Given the description of an element on the screen output the (x, y) to click on. 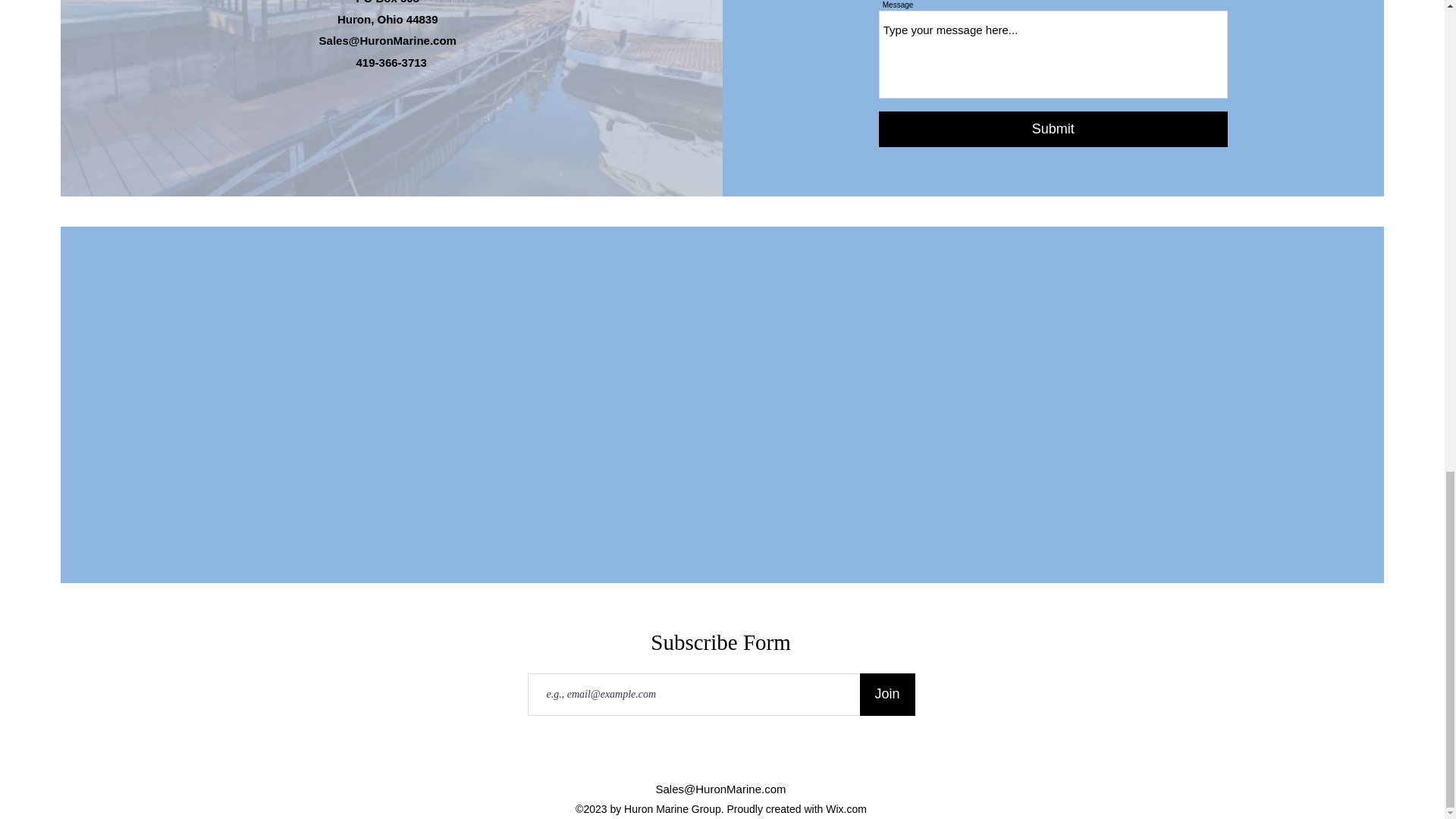
Submit (1053, 129)
Join (887, 694)
